Given the description of an element on the screen output the (x, y) to click on. 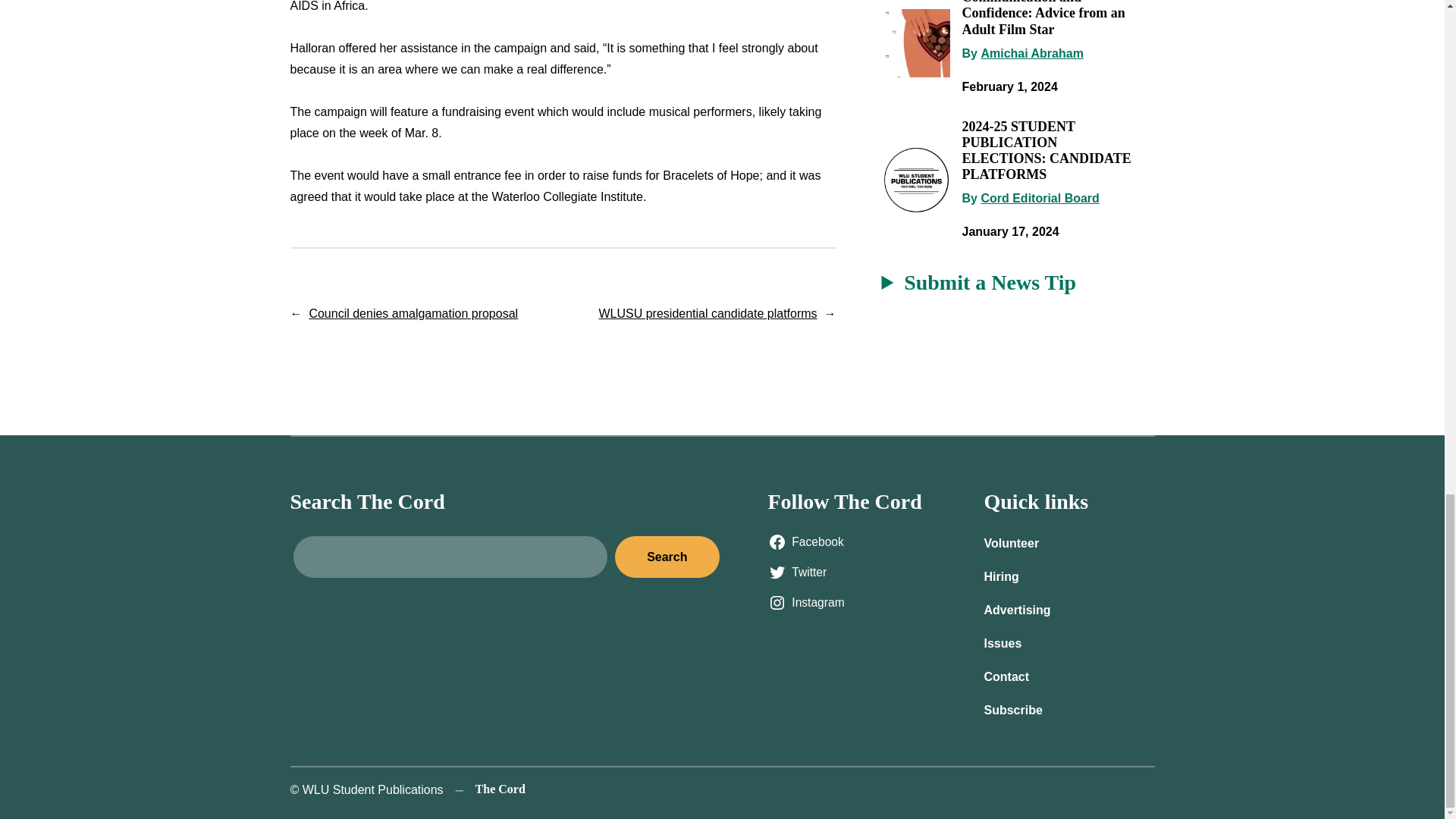
WLUSU presidential candidate platforms (707, 313)
Council denies amalgamation proposal (413, 313)
Posts by Cord Editorial Board (1039, 197)
Posts by Amichai Abraham (1031, 52)
